Given the description of an element on the screen output the (x, y) to click on. 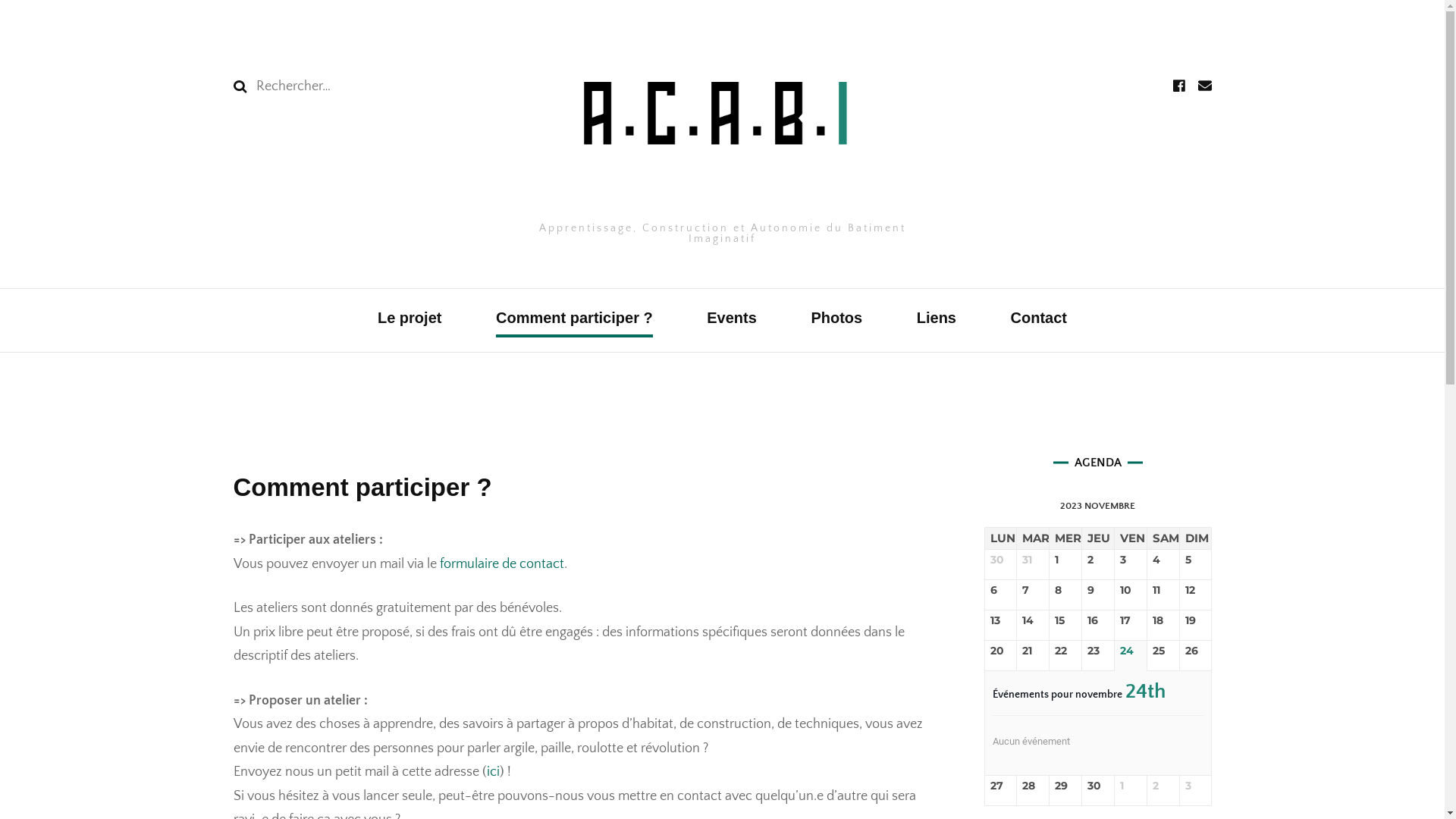
formulaire de contact Element type: text (501, 563)
ici Element type: text (492, 771)
Events Element type: text (731, 320)
Contact Element type: text (1038, 320)
Comment participer ? Element type: text (573, 320)
Liens Element type: text (936, 320)
Rechercher Element type: text (240, 86)
Photos Element type: text (836, 320)
Le projet Element type: text (409, 320)
